Given the description of an element on the screen output the (x, y) to click on. 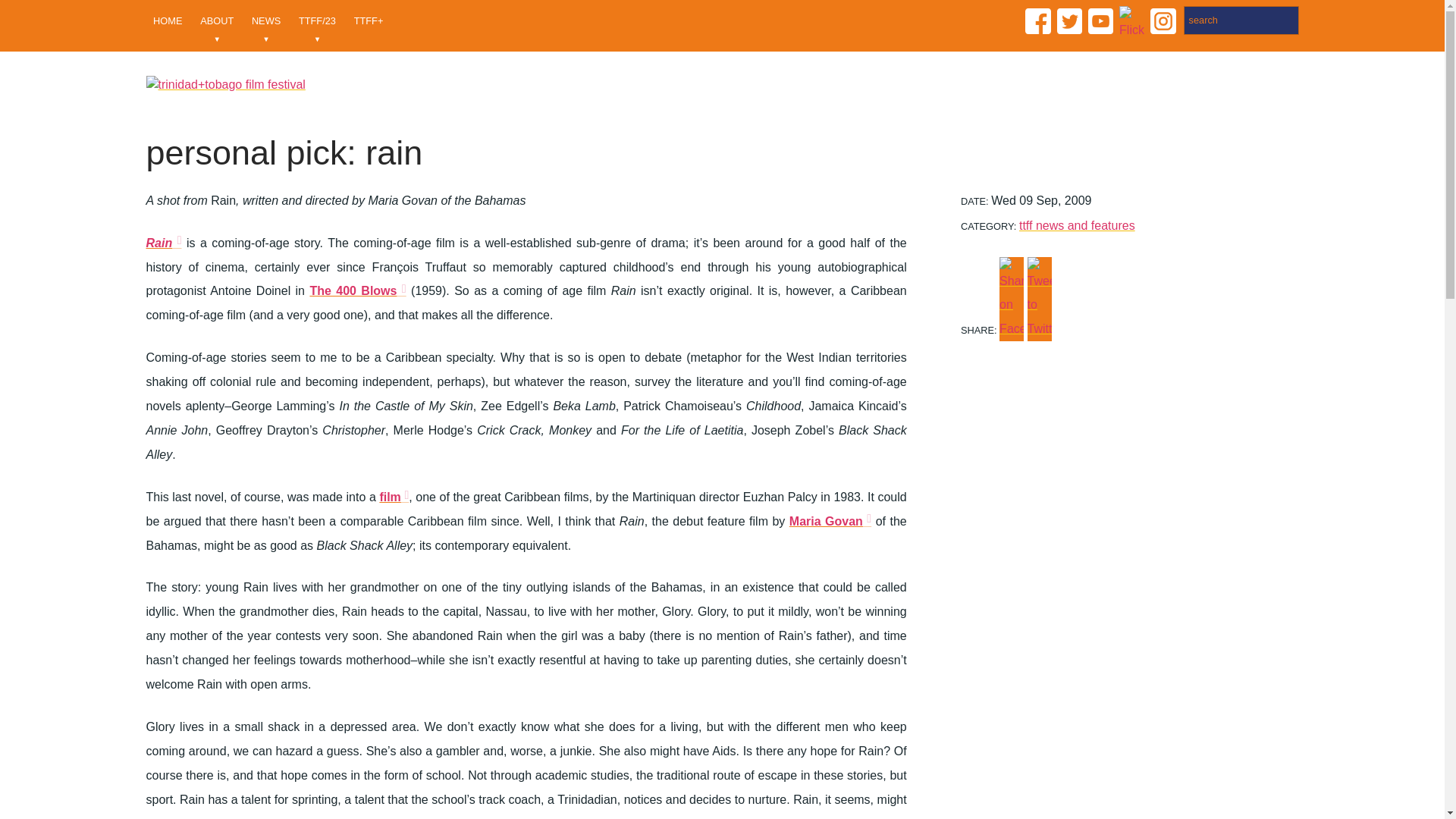
film (393, 495)
ABOUT (217, 25)
Maria Govan (829, 519)
The 400 Blows (357, 289)
Search (1240, 20)
Rain (162, 240)
ttff news and features (1077, 225)
